Given the description of an element on the screen output the (x, y) to click on. 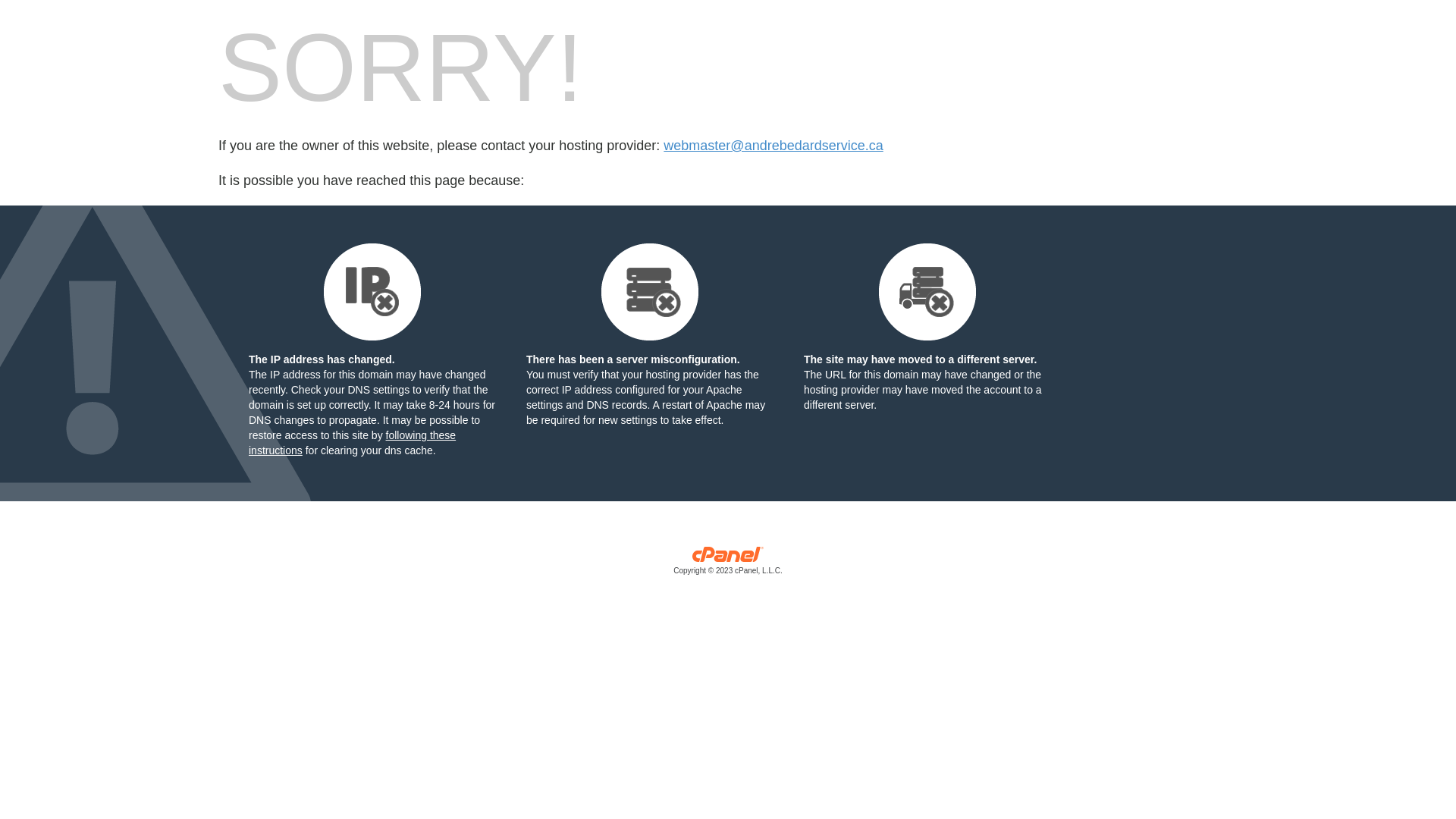
following these instructions Element type: text (351, 442)
webmaster@andrebedardservice.ca Element type: text (772, 145)
